Given the description of an element on the screen output the (x, y) to click on. 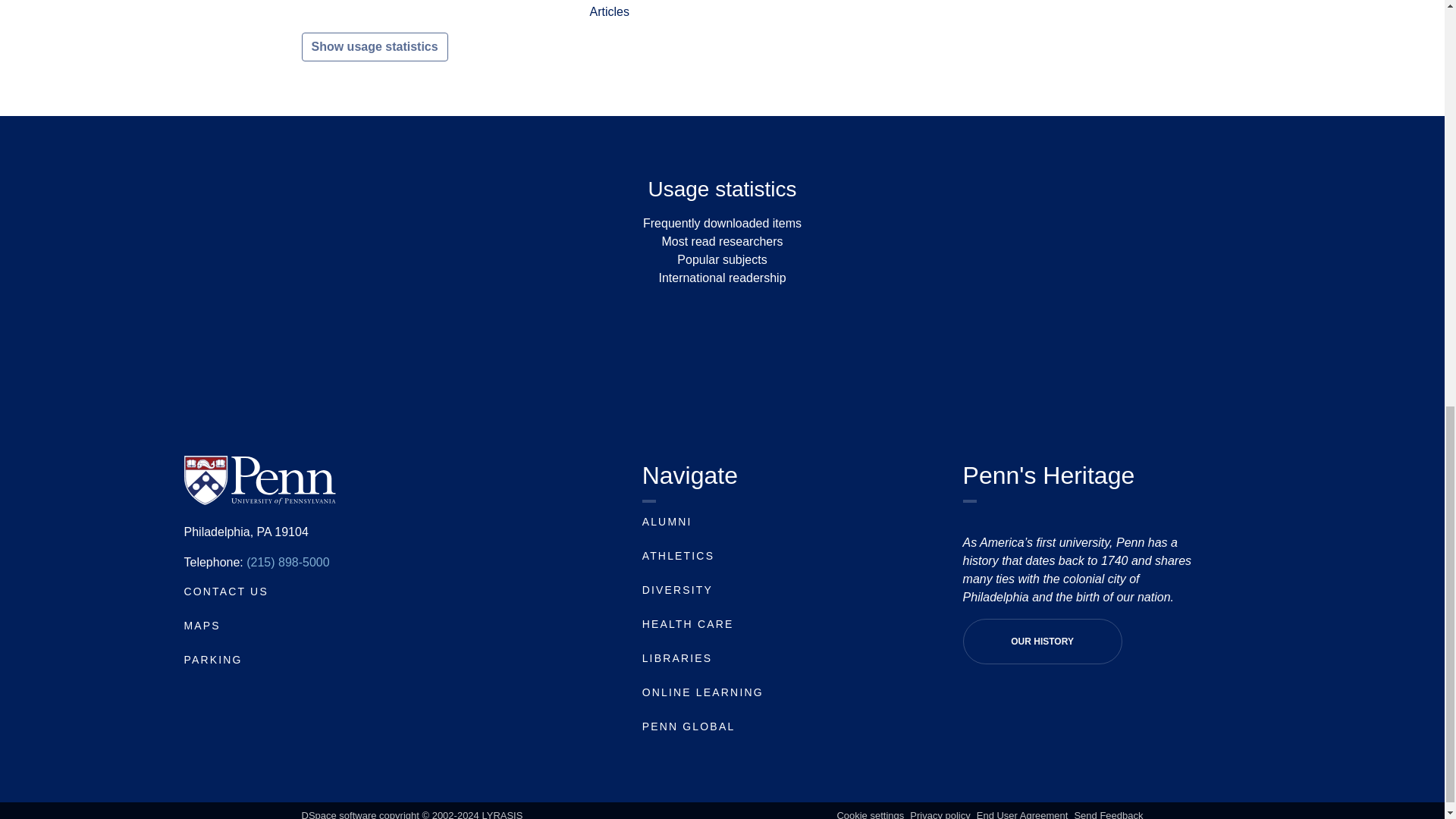
Frequently downloaded items (722, 223)
MAPS (201, 625)
LIBRARIES (677, 657)
Frequently downloaded items (722, 223)
DIVERSITY (677, 589)
Articles (608, 11)
PENN GLOBAL (688, 726)
Privacy policy (939, 814)
ONLINE LEARNING (702, 692)
LYRASIS (501, 814)
International readership (722, 277)
Cookie settings (869, 814)
End User Agreement (1022, 814)
HEALTH CARE (687, 623)
ATHLETICS (678, 555)
